Given the description of an element on the screen output the (x, y) to click on. 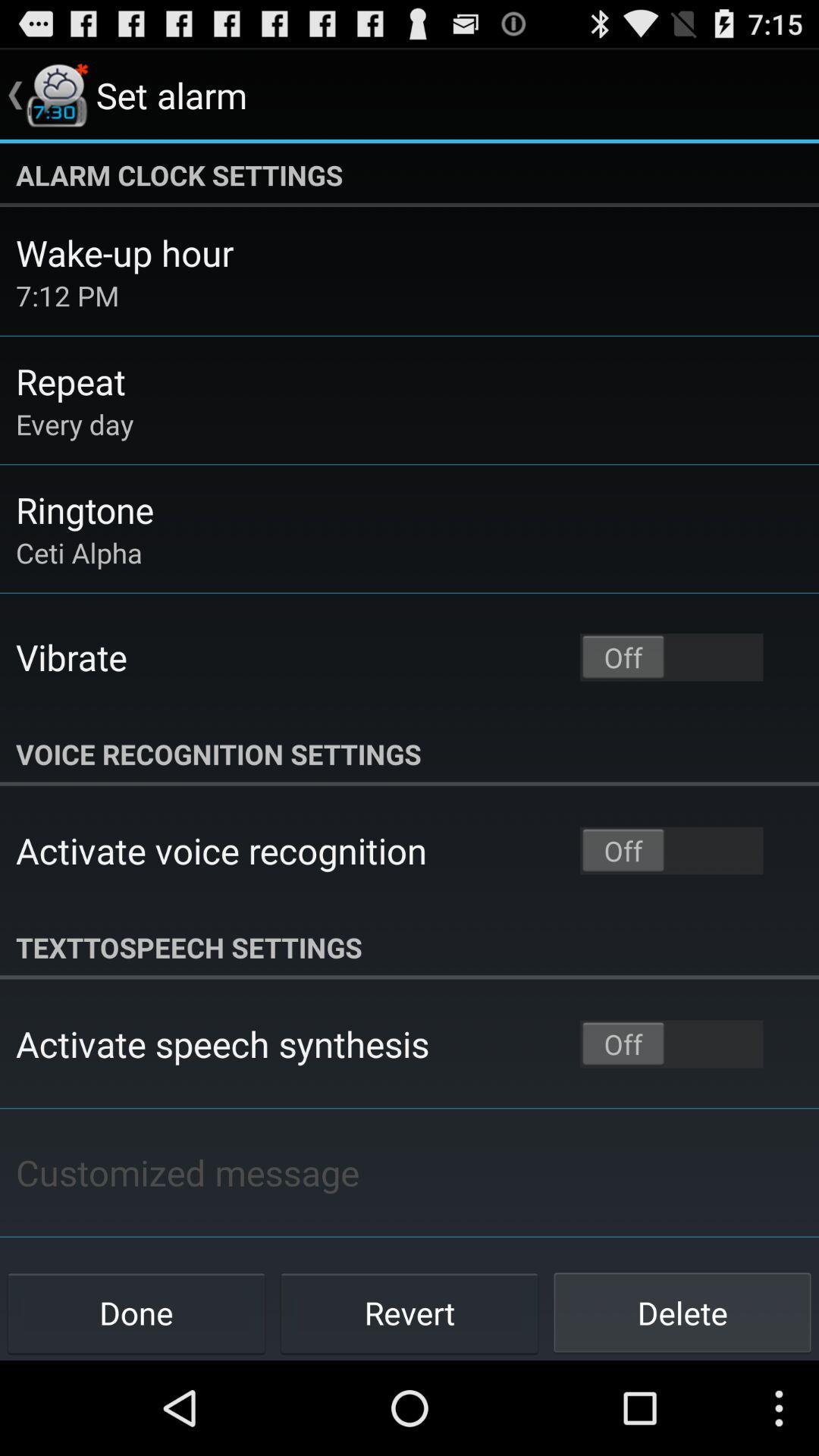
turn on customized message icon (187, 1172)
